Given the description of an element on the screen output the (x, y) to click on. 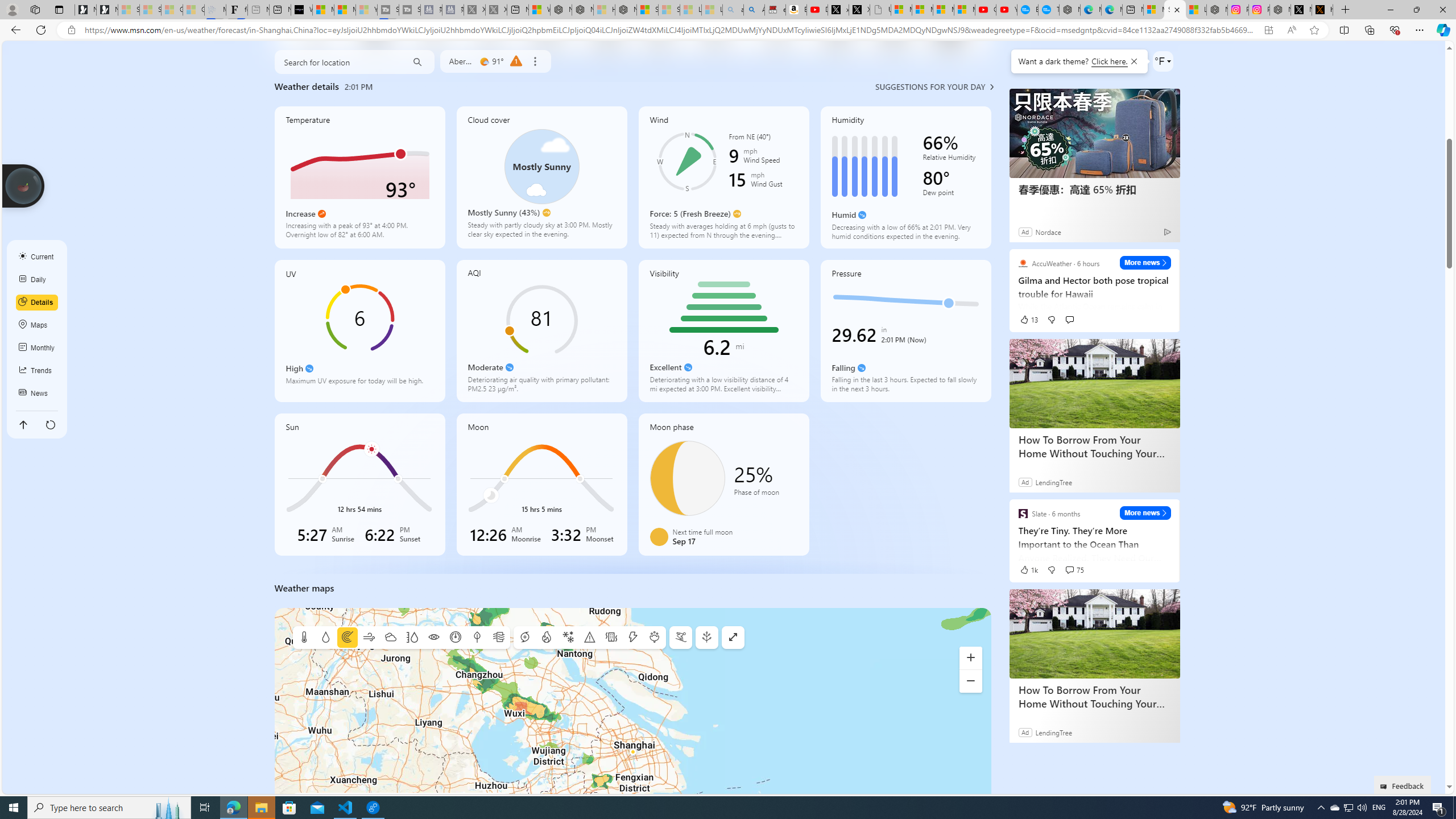
E-tree (706, 637)
Sea level pressure (454, 637)
Current (37, 256)
Trends (37, 370)
Dew point (476, 637)
Remove location (534, 60)
Class: cloudCoverSvg-DS-ps0R9q (541, 166)
YouTube Kids - An App Created for Kids to Explore Content (1006, 9)
